Given the description of an element on the screen output the (x, y) to click on. 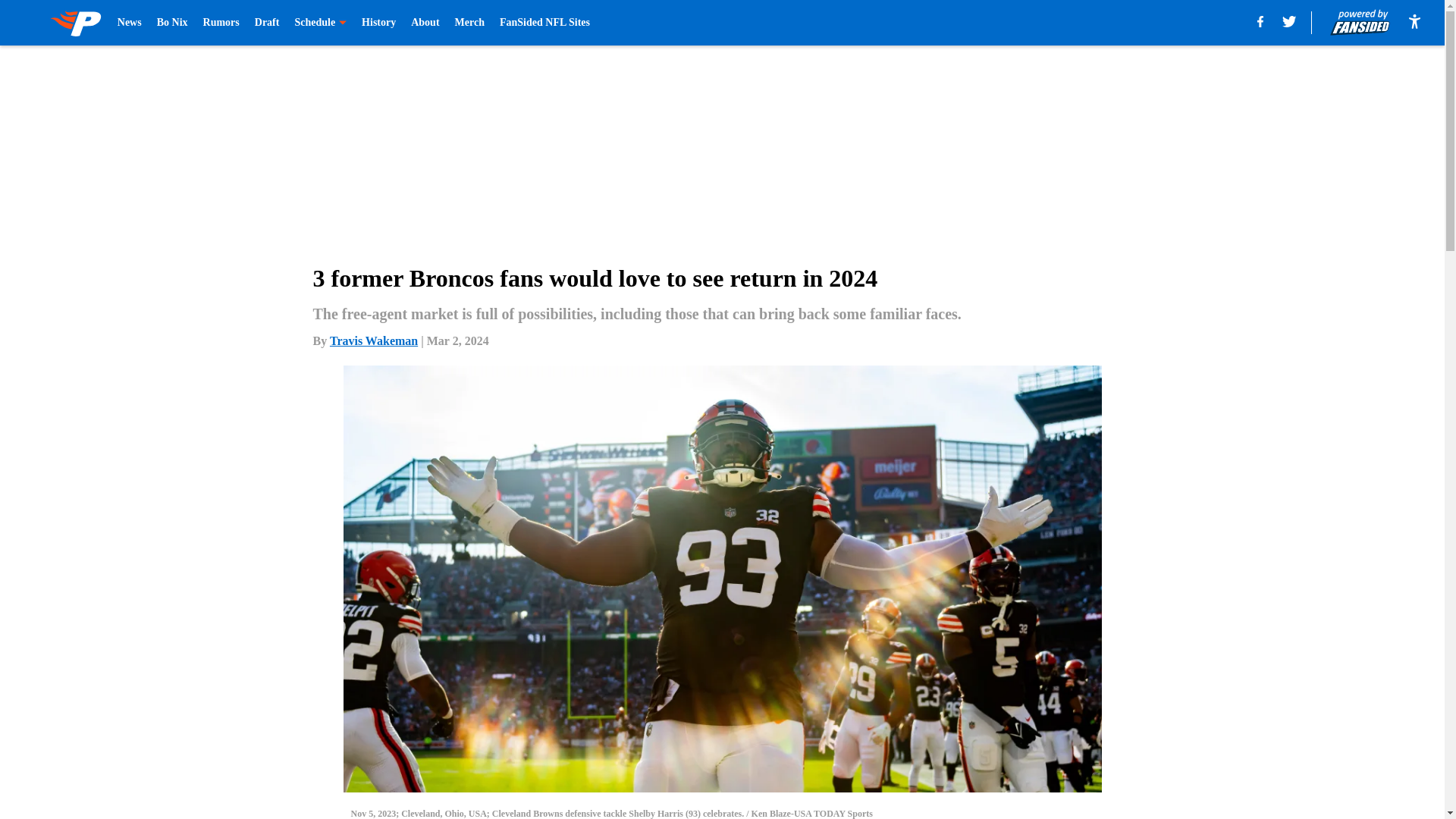
FanSided NFL Sites (544, 22)
Merch (469, 22)
Bo Nix (172, 22)
History (378, 22)
News (129, 22)
Rumors (221, 22)
Travis Wakeman (373, 340)
Draft (266, 22)
About (424, 22)
